Given the description of an element on the screen output the (x, y) to click on. 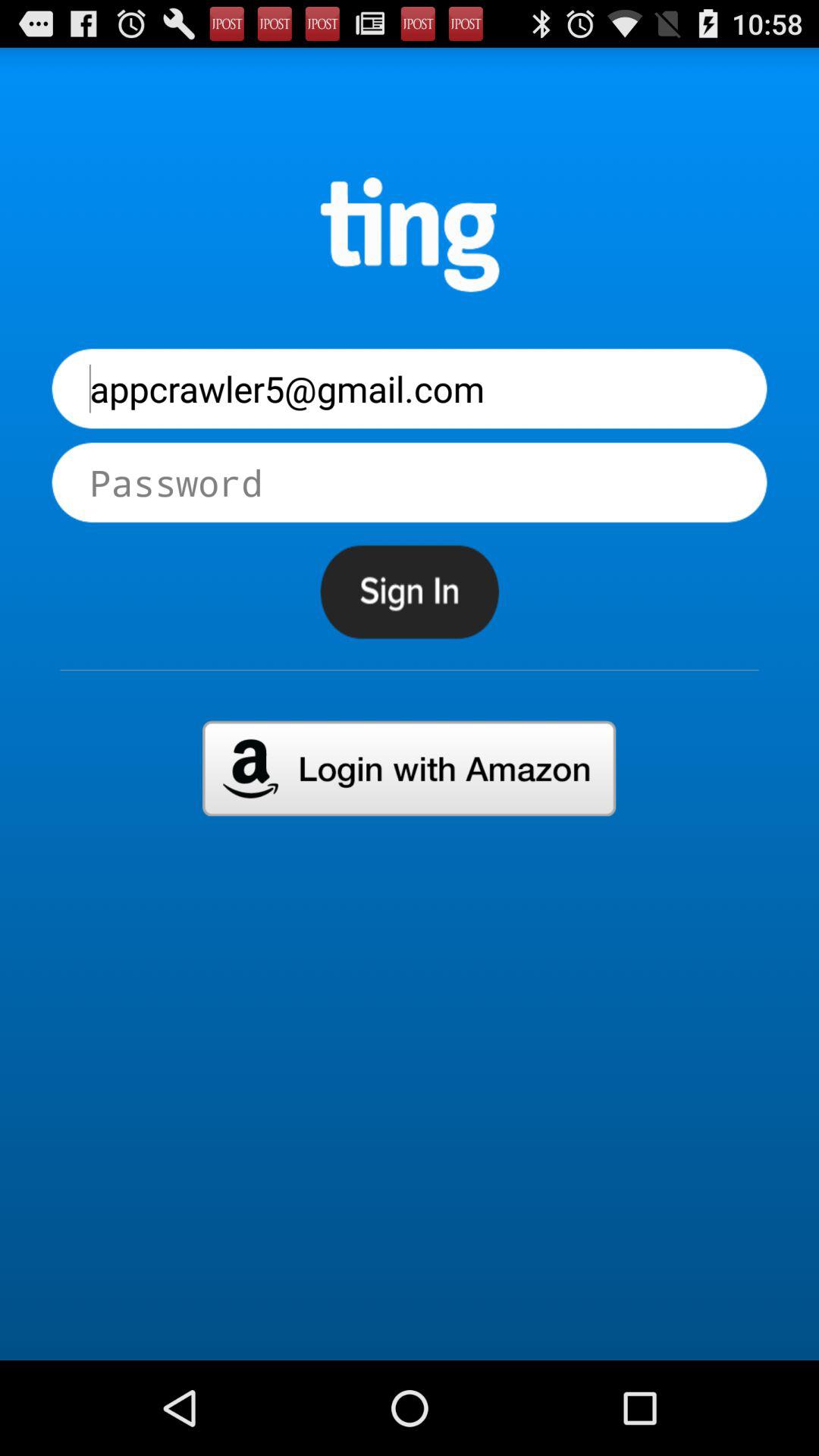
interactive login key (408, 768)
